Given the description of an element on the screen output the (x, y) to click on. 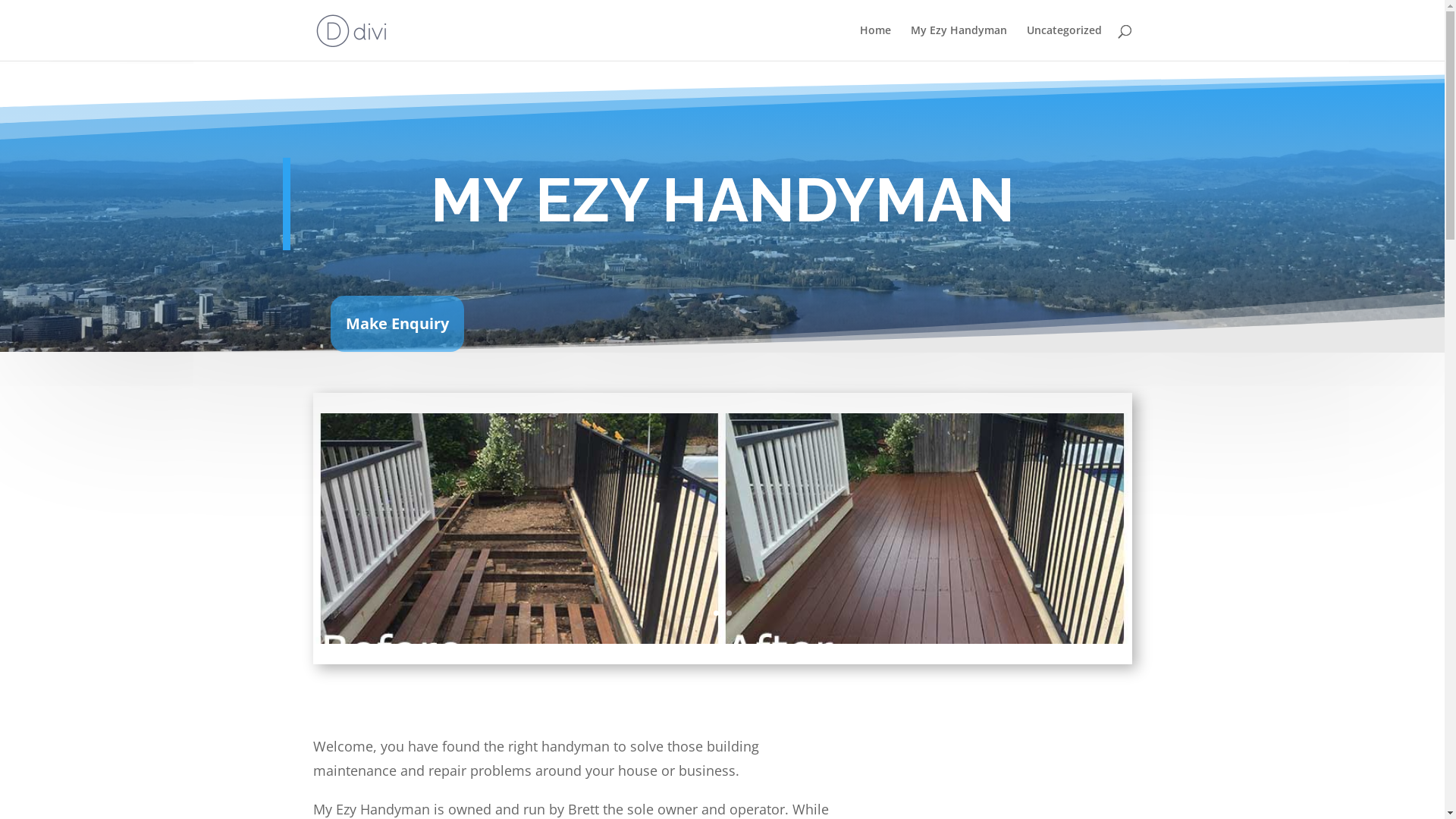
My Ezy Handyman Element type: text (958, 42)
Home Element type: text (875, 42)
2 Element type: text (728, 612)
Make Enquiry Element type: text (397, 323)
1 Element type: text (715, 612)
Uncategorized Element type: text (1063, 42)
